Given the description of an element on the screen output the (x, y) to click on. 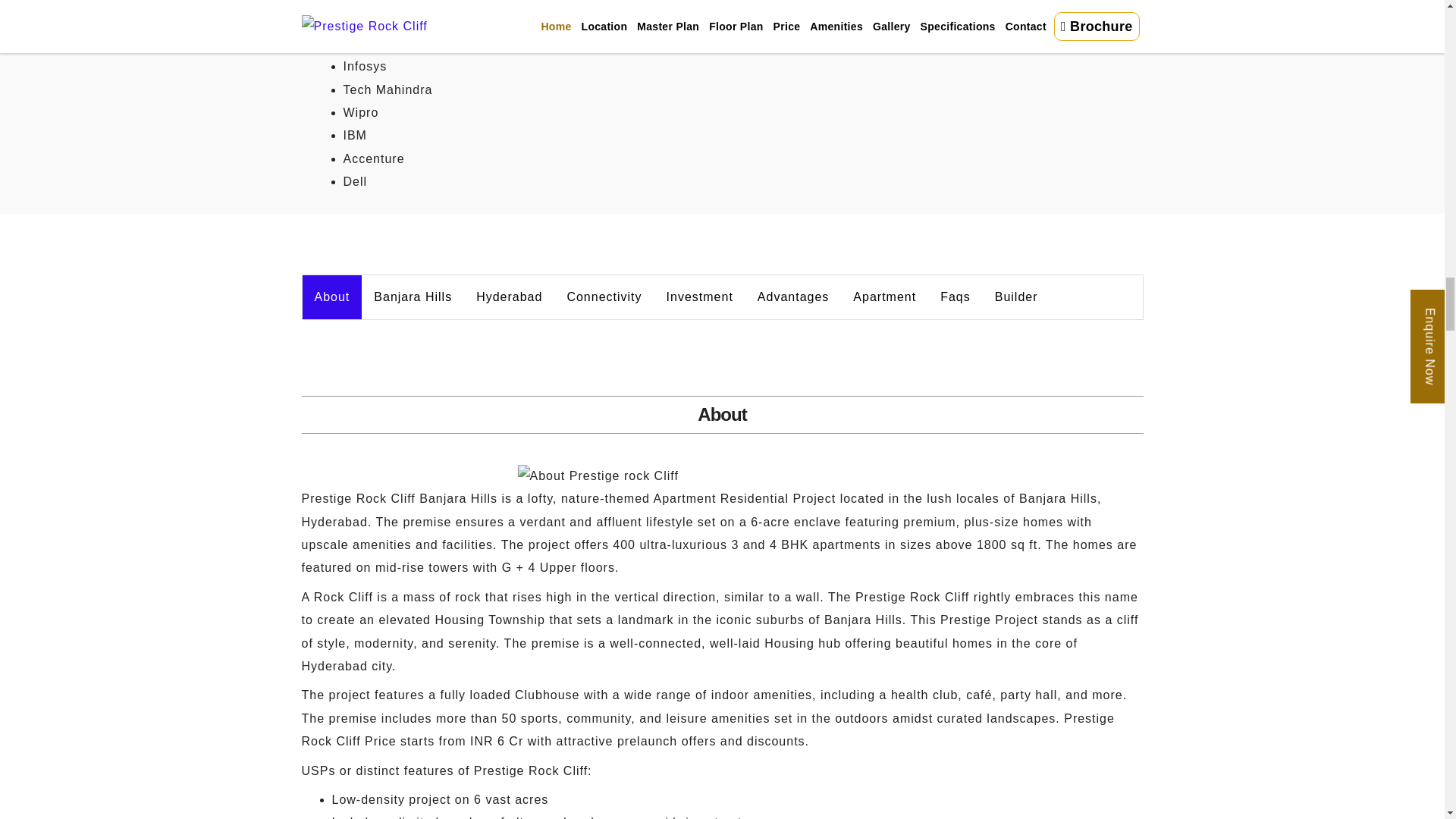
Investment (699, 297)
Hyderabad (509, 297)
Builder (1015, 297)
Banjara Hills (412, 297)
Faqs (955, 297)
About (331, 297)
Apartment (884, 297)
Advantages (793, 297)
Connectivity (603, 297)
